Given the description of an element on the screen output the (x, y) to click on. 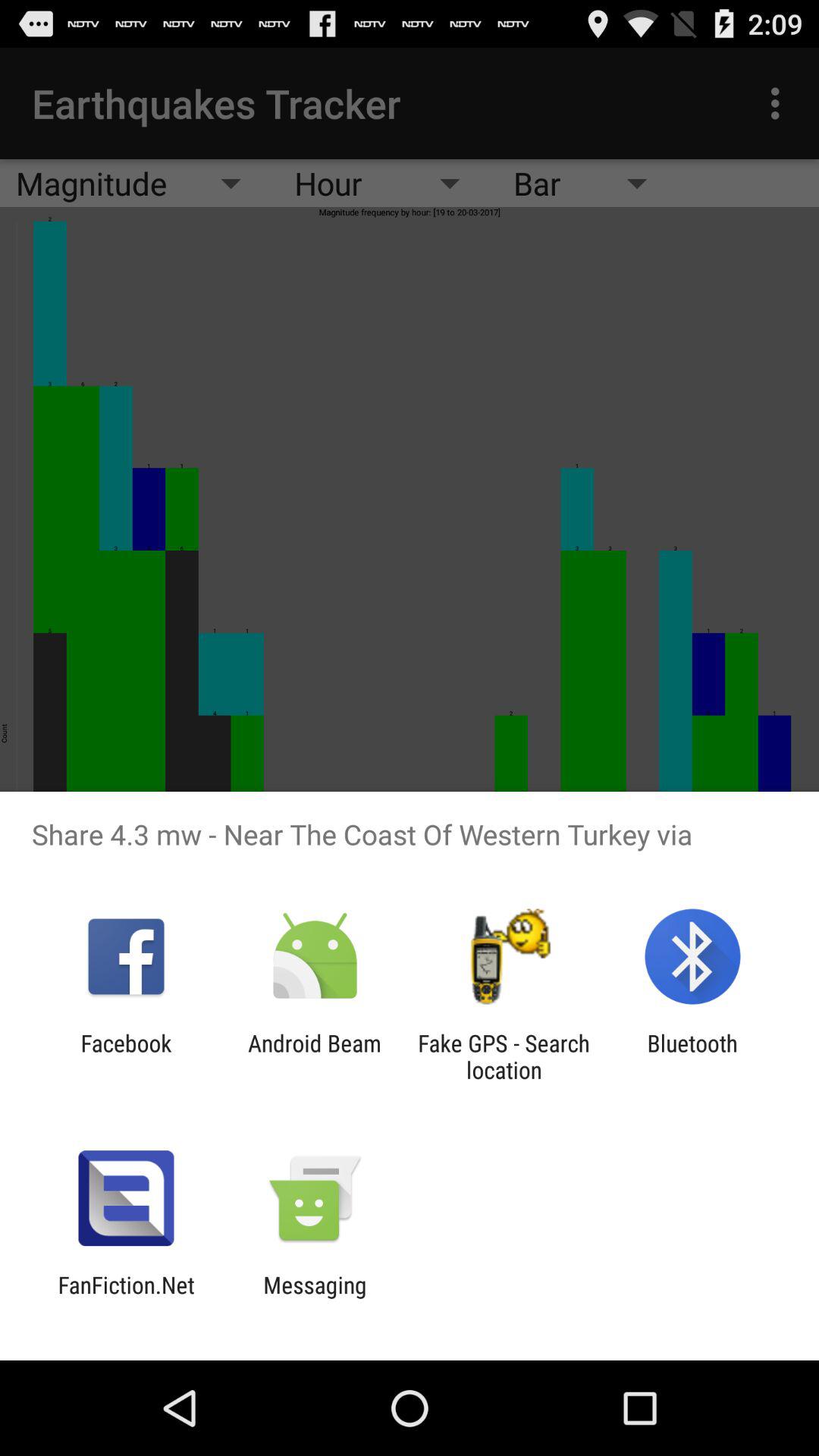
click the icon next to fake gps search icon (314, 1056)
